Given the description of an element on the screen output the (x, y) to click on. 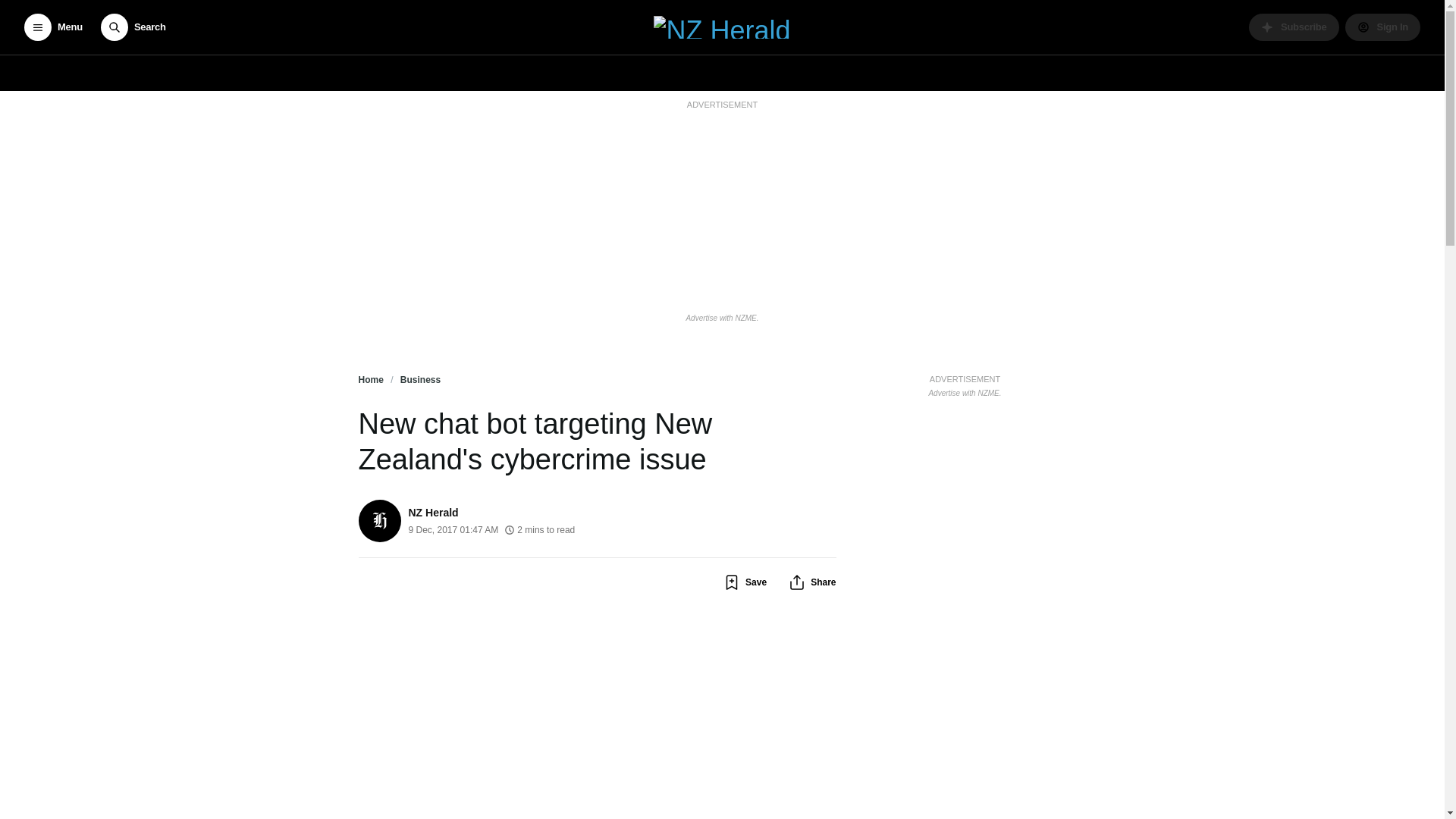
Sign In (1383, 26)
Manage your account (1383, 26)
Subscribe (1294, 26)
Menu (53, 26)
Search (132, 26)
